Given the description of an element on the screen output the (x, y) to click on. 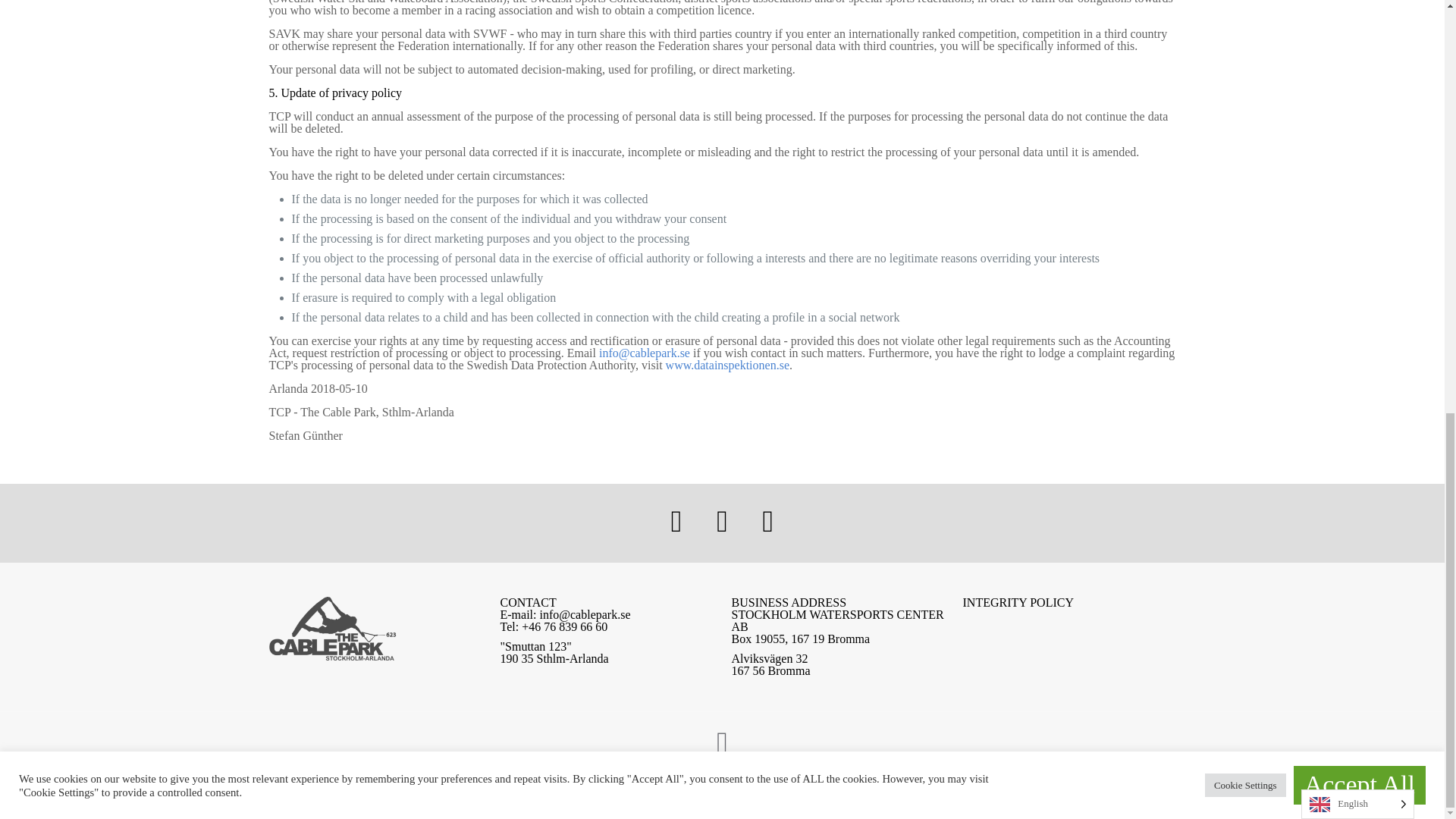
www.datainspektionen.se (727, 364)
